Given the description of an element on the screen output the (x, y) to click on. 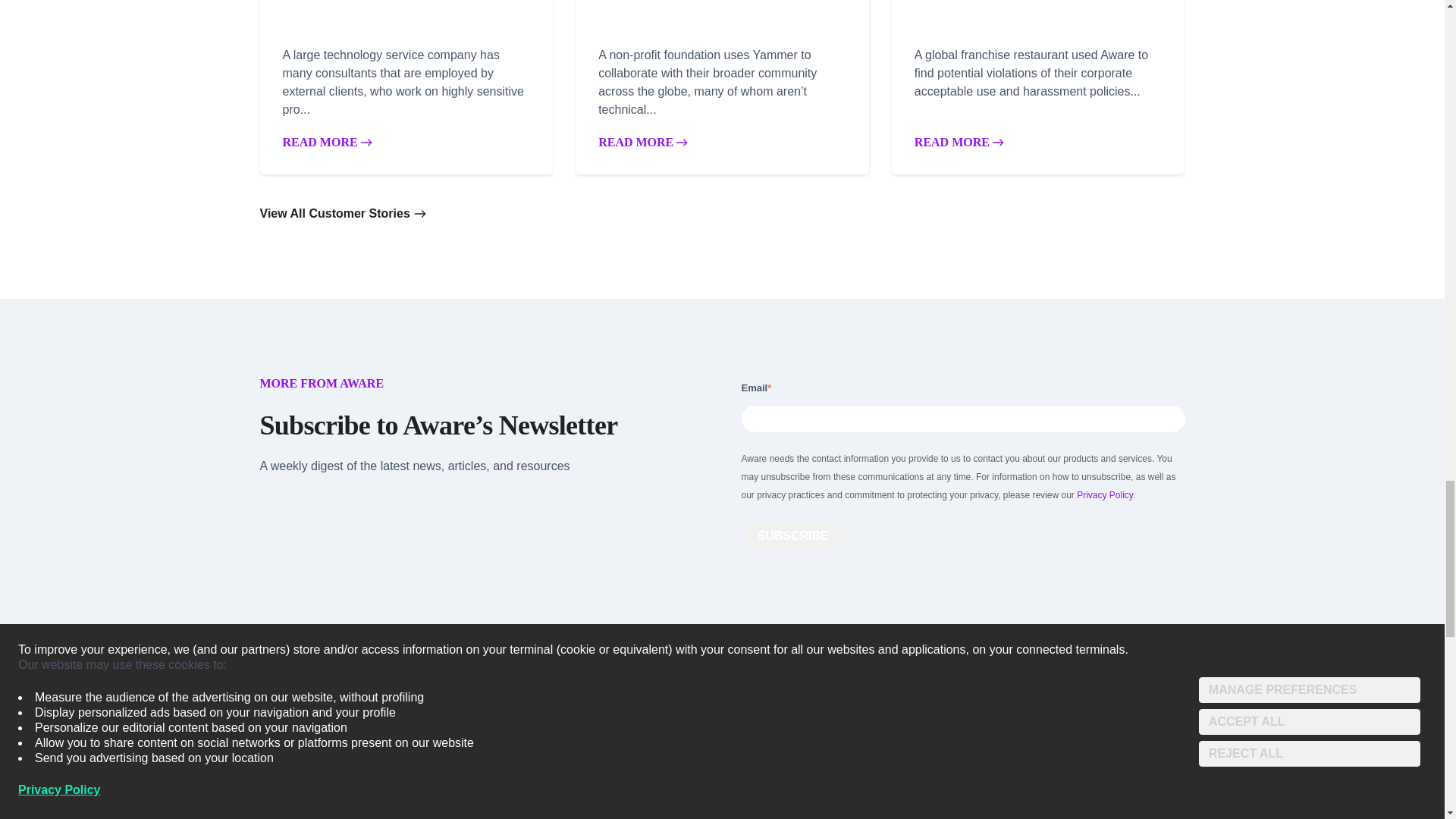
Subscribe (792, 535)
